Given the description of an element on the screen output the (x, y) to click on. 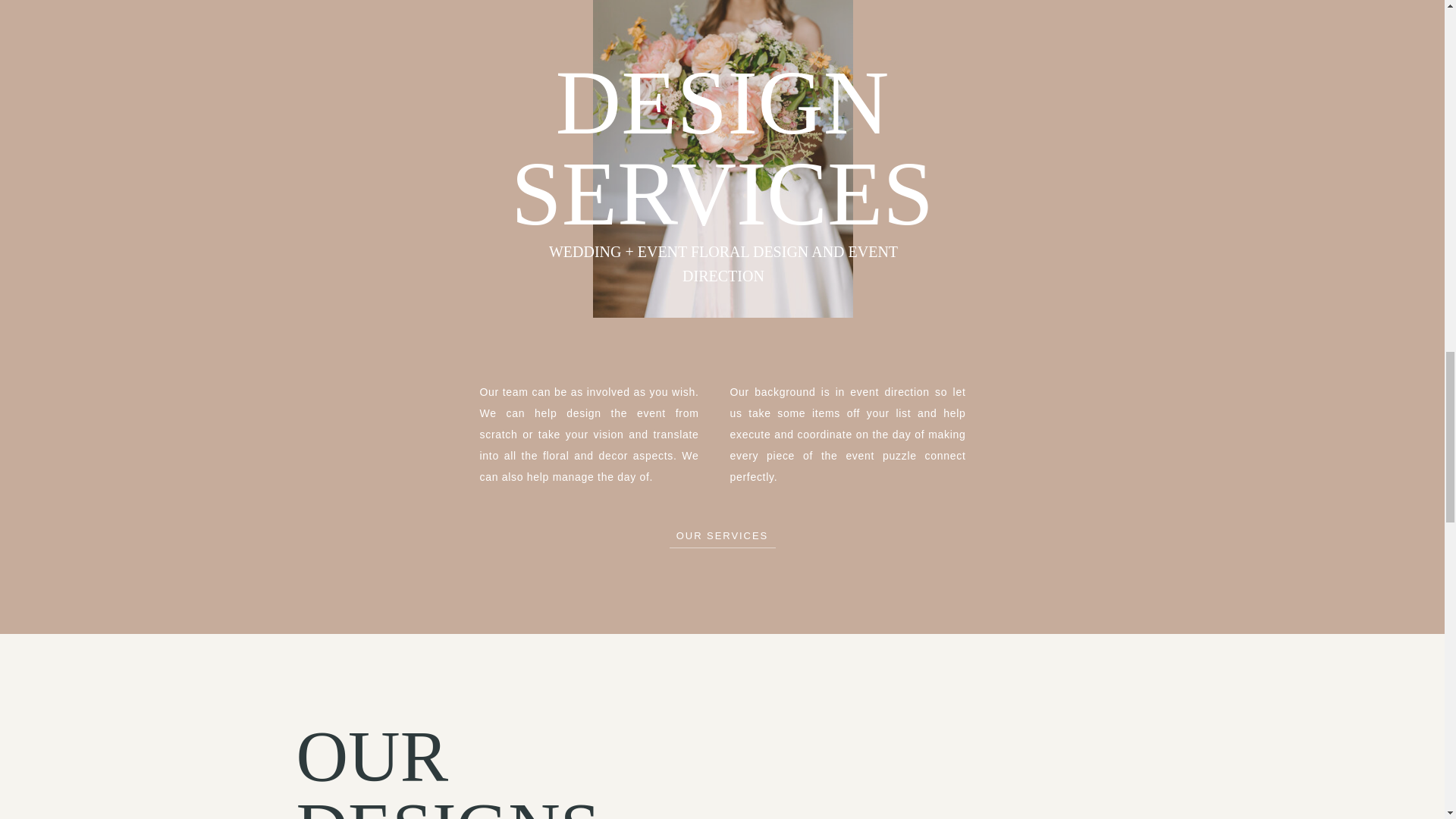
OUR SERVICES (721, 533)
